Given the description of an element on the screen output the (x, y) to click on. 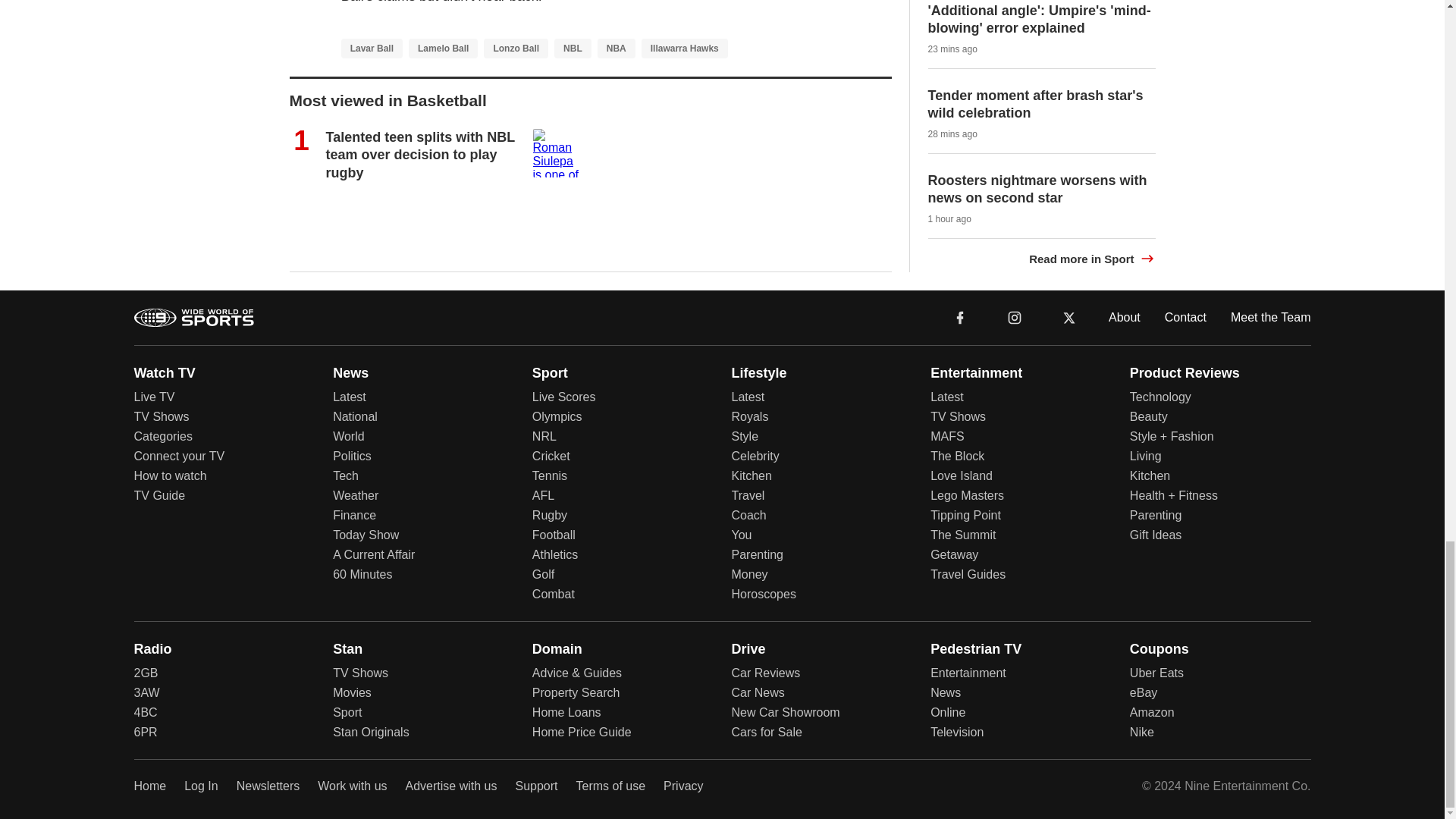
Lonzo Ball (515, 48)
NBL (572, 48)
instagram (1013, 317)
facebook (959, 317)
instagram (1013, 317)
facebook (960, 317)
instagram (1014, 317)
NBA (615, 48)
Lamelo Ball (443, 48)
